Given the description of an element on the screen output the (x, y) to click on. 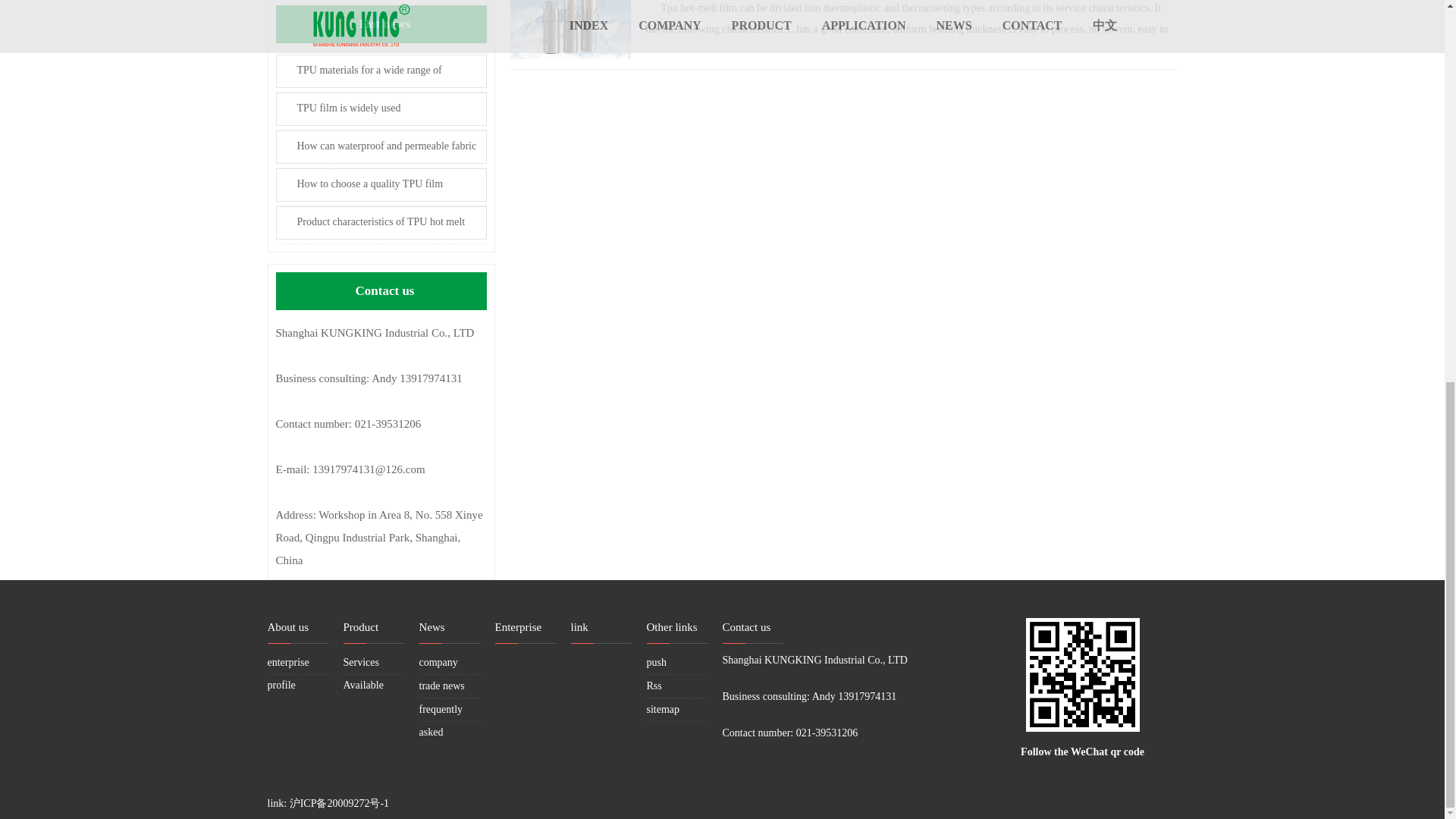
Rss (653, 685)
How to choose a quality TPU film manufacturer (381, 184)
Product characteristics of TPU hot melt adhesive film (381, 222)
sitemap (662, 708)
company (438, 662)
TPU film is widely used (381, 109)
trade news (441, 685)
enterprise profile (287, 673)
Services Available (362, 673)
frequently asked (441, 720)
push (655, 662)
